Given the description of an element on the screen output the (x, y) to click on. 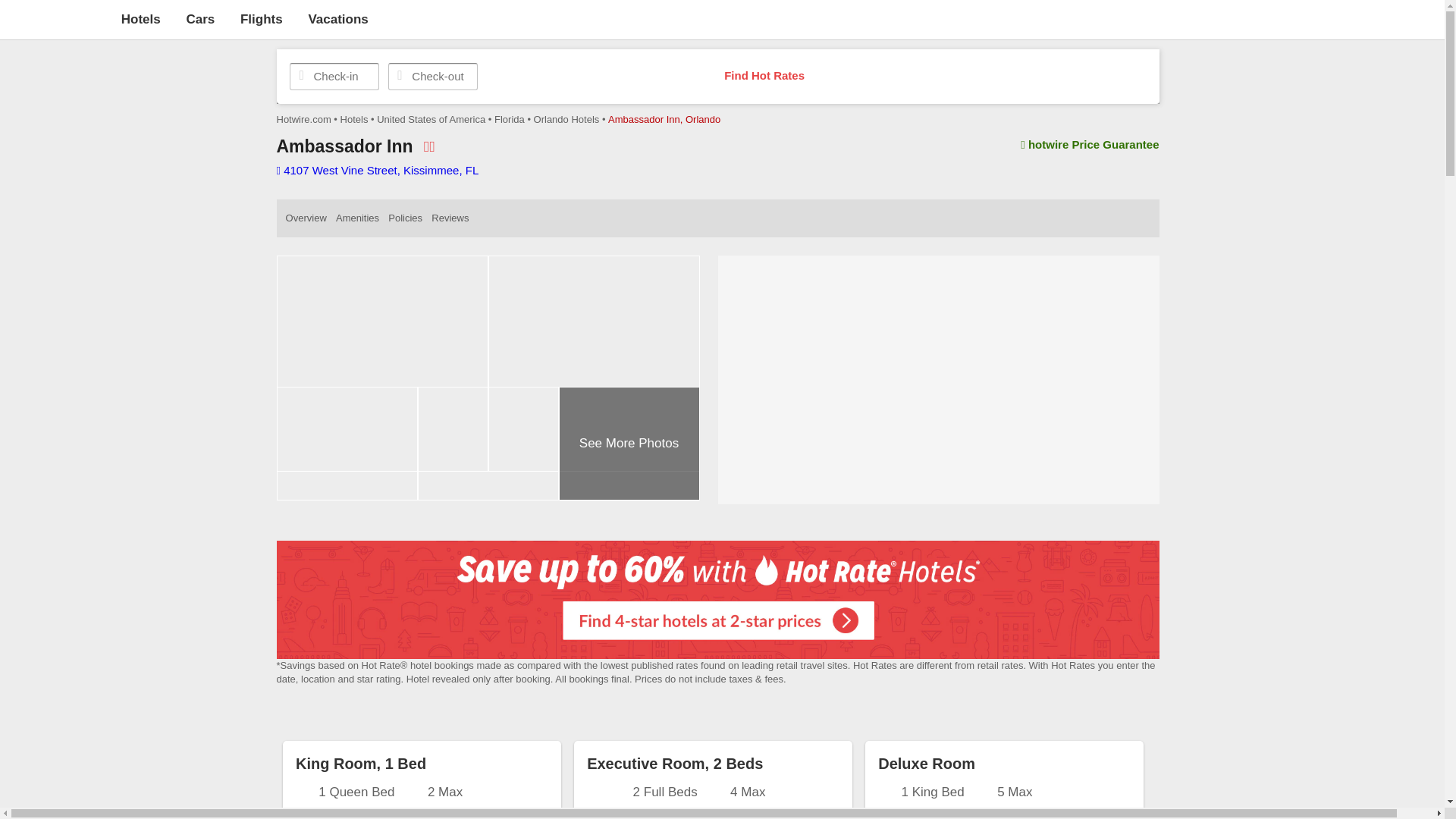
Hotels (140, 19)
Hotwire (56, 18)
Flights (261, 19)
Cars (200, 19)
Vacations (337, 19)
